Given the description of an element on the screen output the (x, y) to click on. 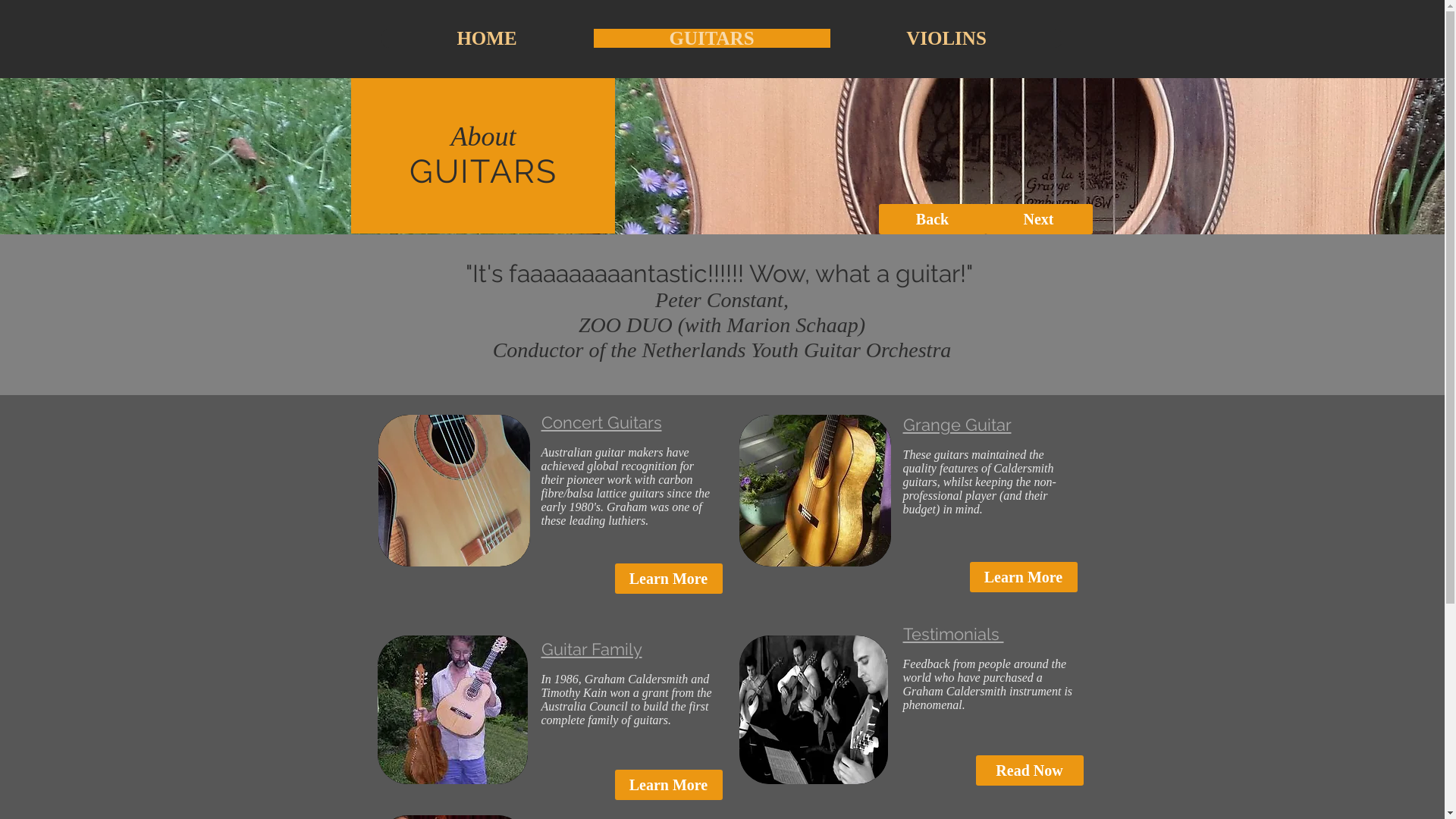
Testimonials  Element type: text (952, 633)
Read Now Element type: text (1028, 770)
Learn More Element type: text (1022, 576)
Back Element type: text (931, 218)
Learn More Element type: text (667, 784)
Learn More Element type: text (667, 578)
VIOLINS Element type: text (945, 37)
HOME Element type: text (486, 37)
Next Element type: text (1038, 218)
Concert Guitars Element type: text (601, 422)
Grange Guitar Element type: text (956, 424)
Guitar Family Element type: text (591, 648)
GUITARS Element type: text (711, 37)
